Given the description of an element on the screen output the (x, y) to click on. 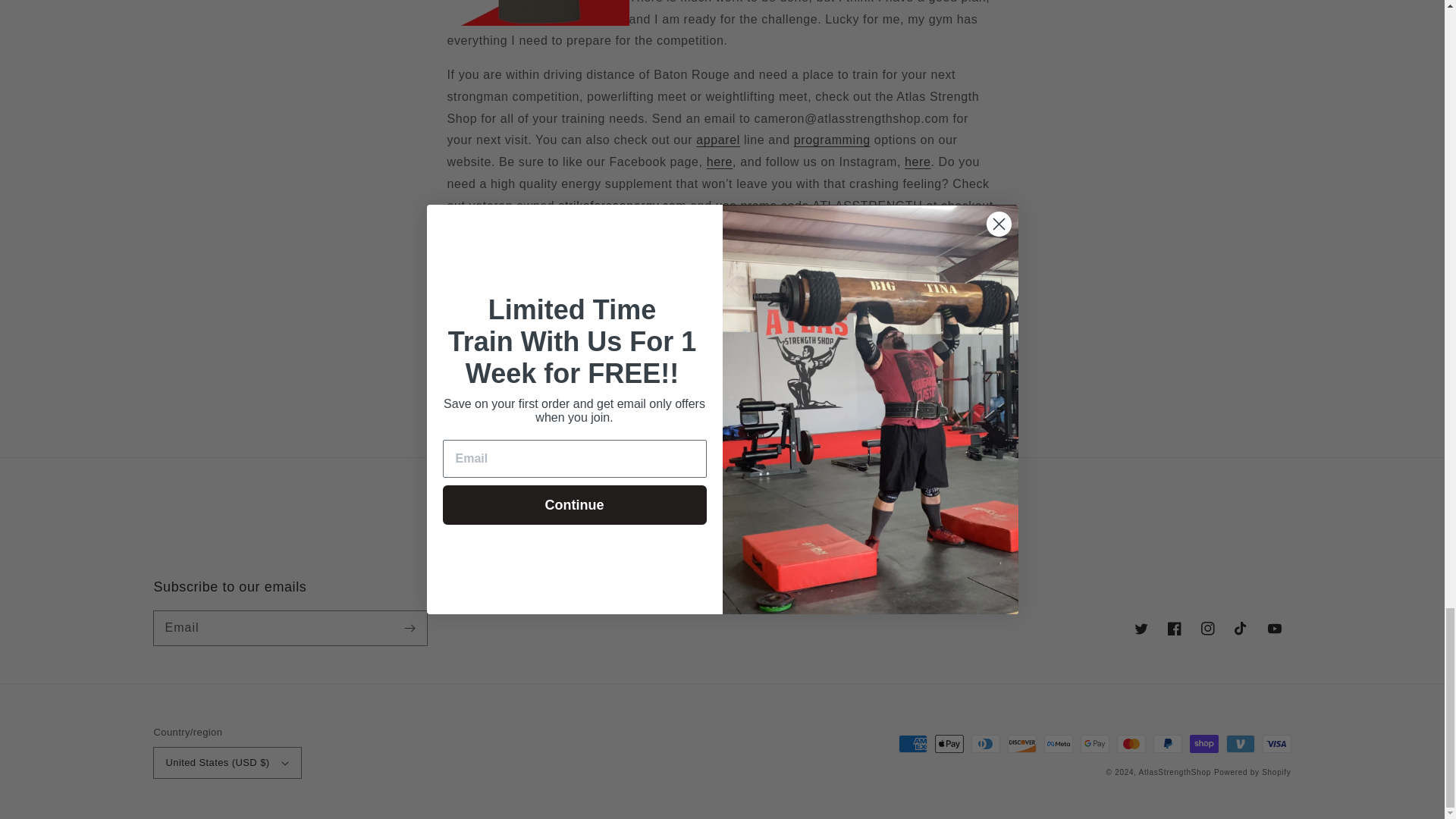
apparel (717, 139)
